Given the description of an element on the screen output the (x, y) to click on. 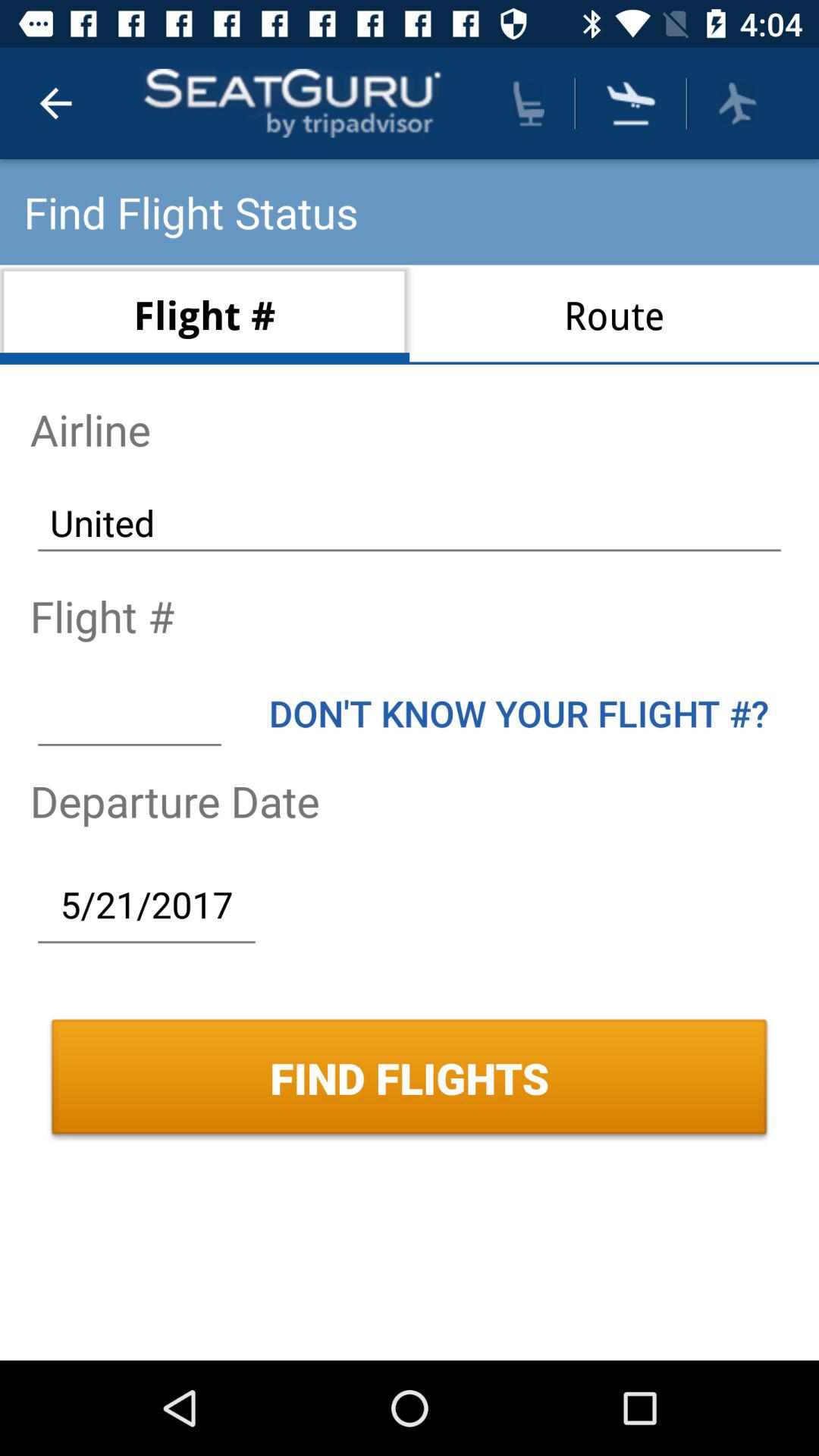
turn off the icon above route (528, 103)
